Given the description of an element on the screen output the (x, y) to click on. 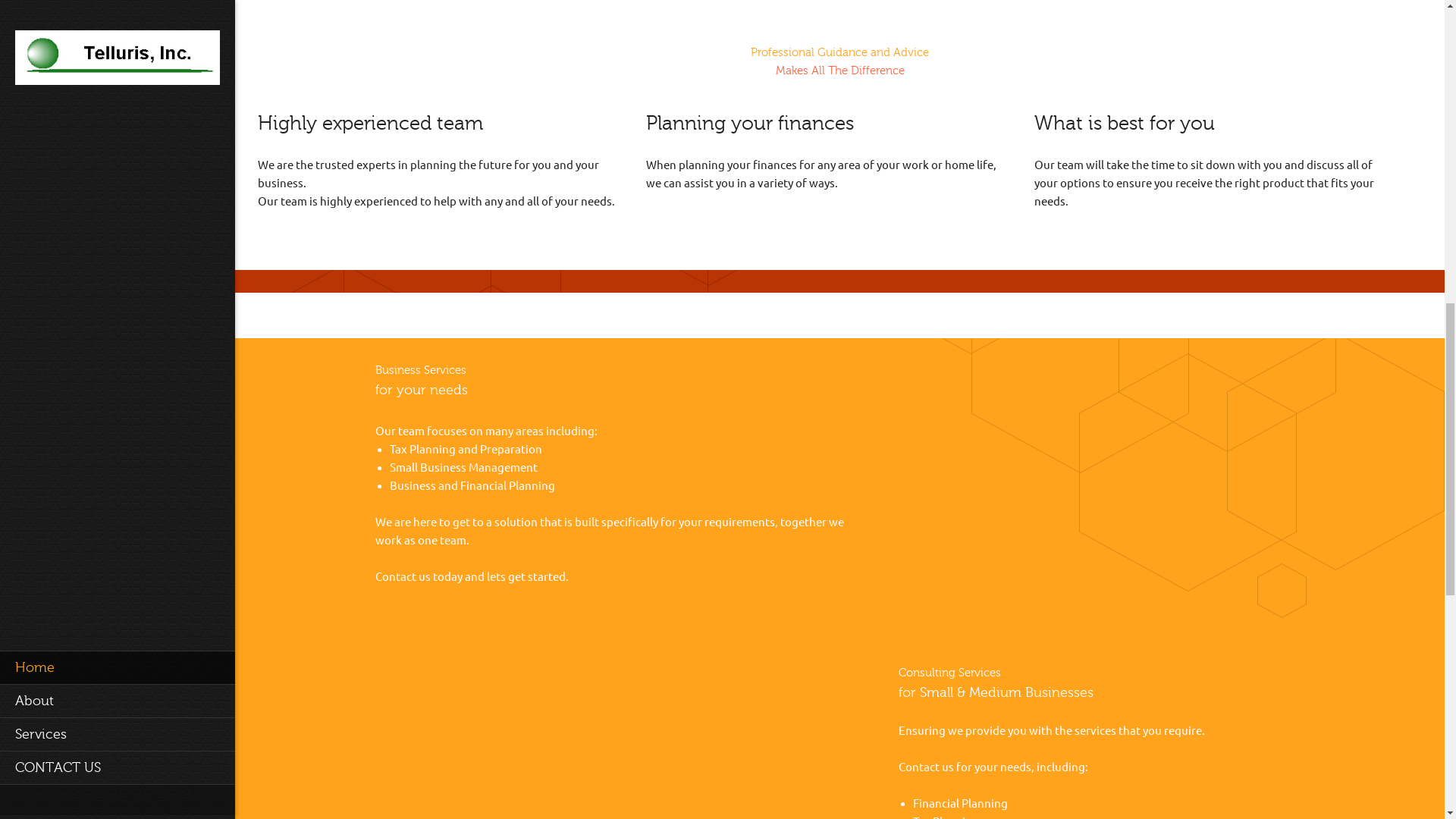
Contact us (925, 766)
What is best for you (1212, 124)
Contact us (401, 576)
Highly experienced team (435, 124)
Planning your finances (824, 124)
